Given the description of an element on the screen output the (x, y) to click on. 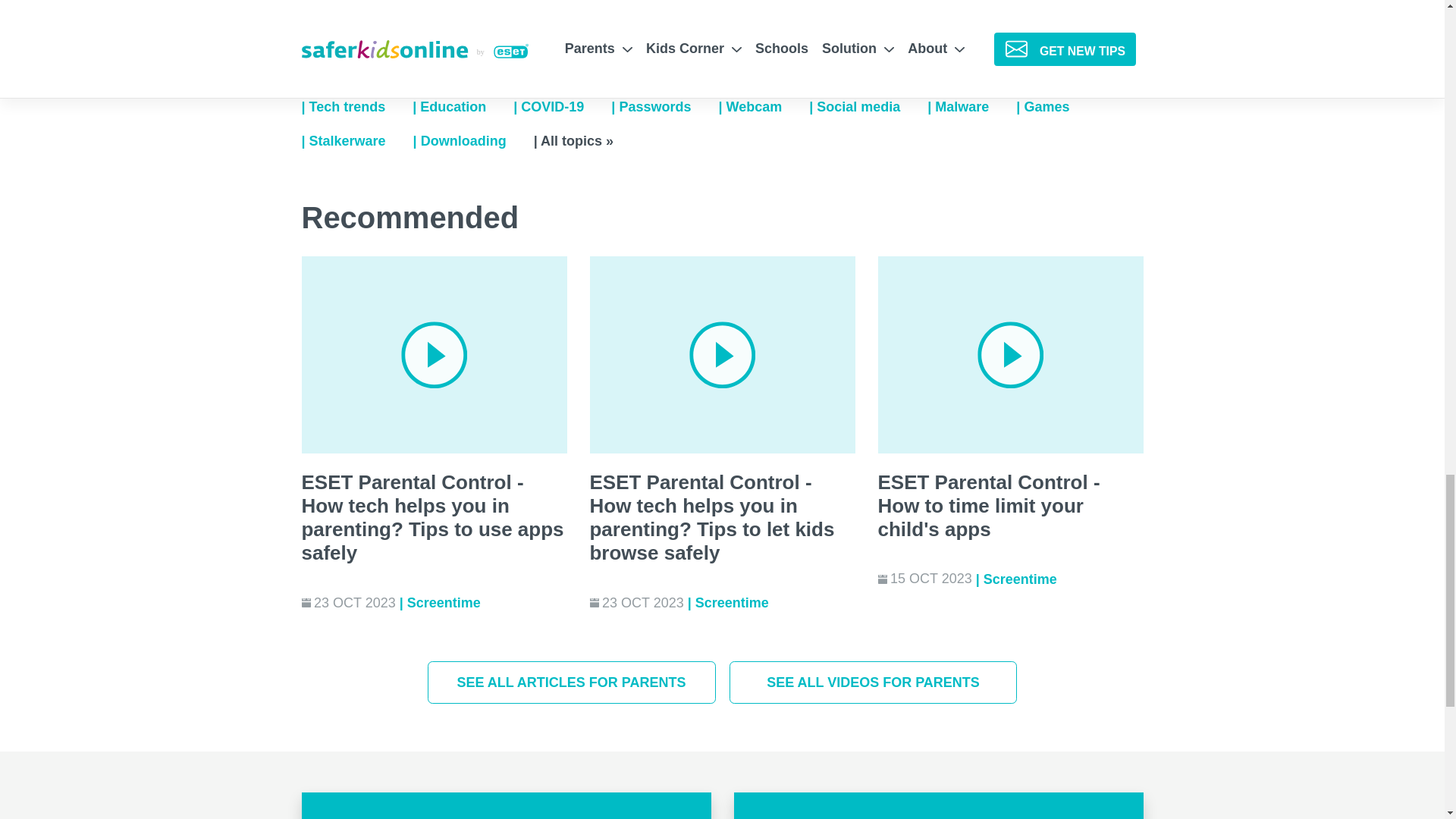
Latest topics (473, 141)
Latest topics (664, 107)
See all articles for parents (572, 681)
Latest topics (462, 107)
Latest topics (763, 107)
Latest topics (971, 107)
Latest topics (868, 107)
Latest topics (562, 107)
Latest topics (1056, 107)
Latest topics (357, 107)
